Given the description of an element on the screen output the (x, y) to click on. 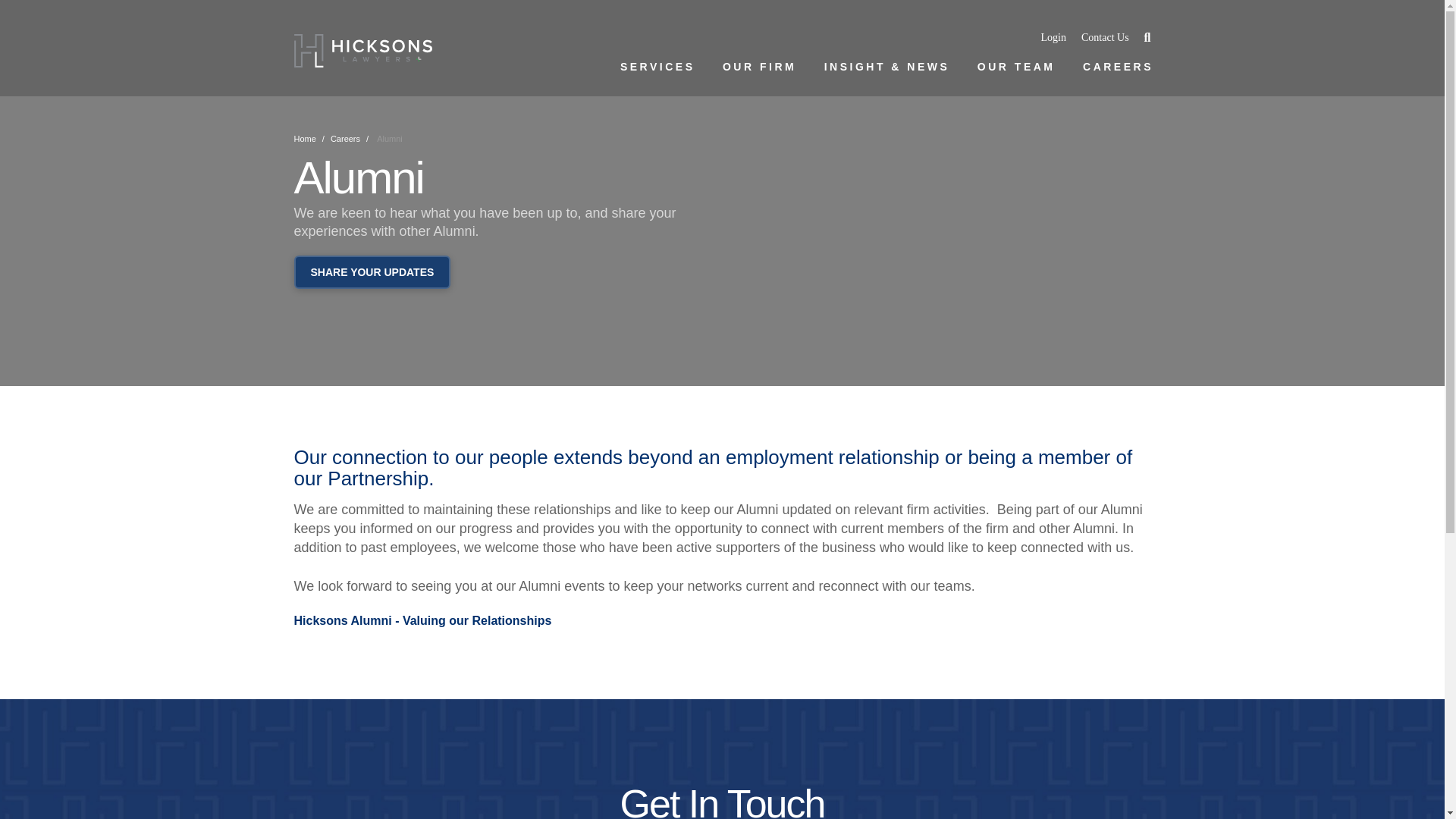
Careers (344, 138)
Hicksons Lawyers (363, 50)
SERVICES (656, 66)
Contact Us (1105, 37)
Login (1053, 37)
